Given the description of an element on the screen output the (x, y) to click on. 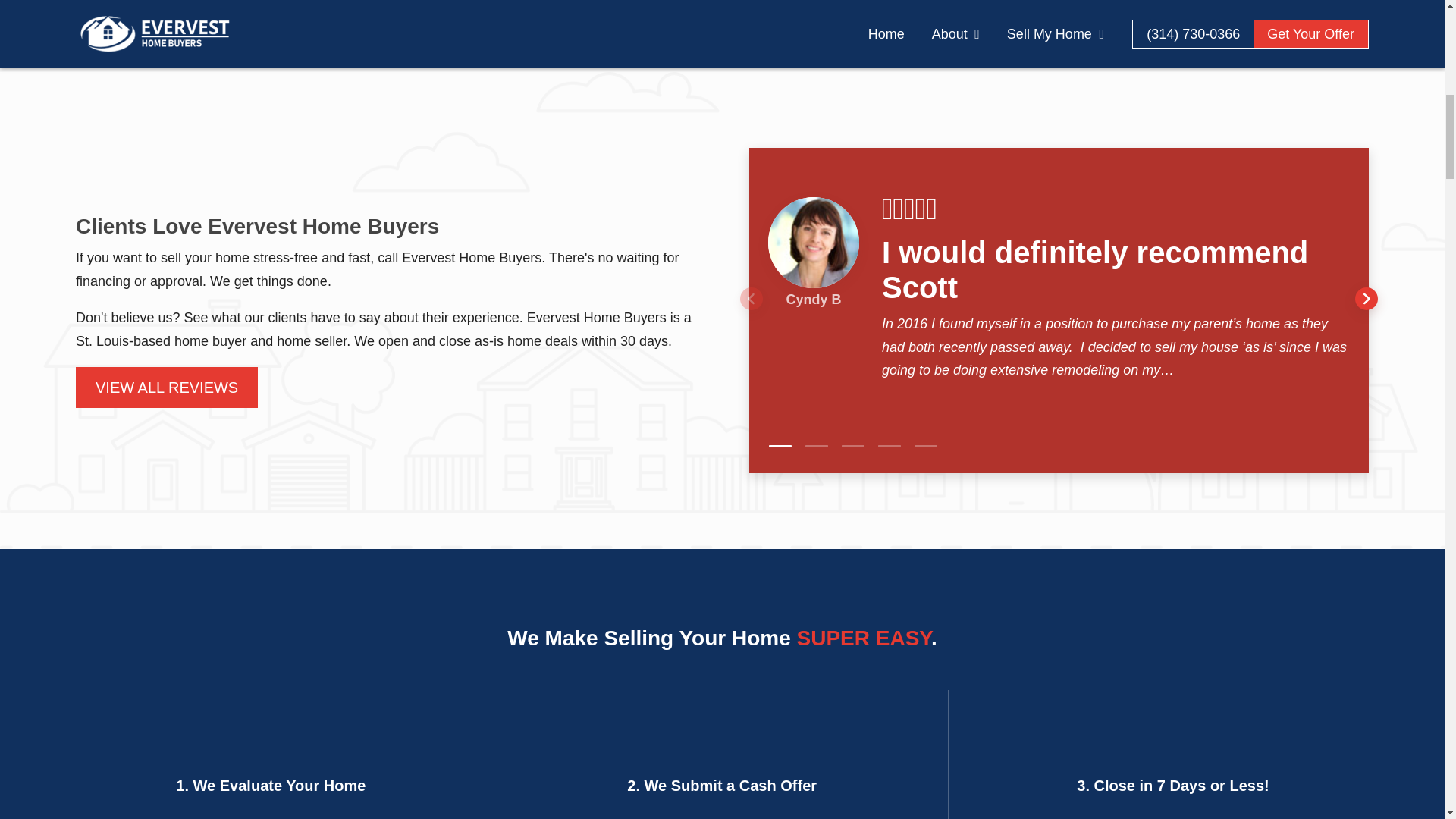
VIEW ALL ANSWERS (1080, 29)
VIEW ALL REVIEWS (166, 386)
